Given the description of an element on the screen output the (x, y) to click on. 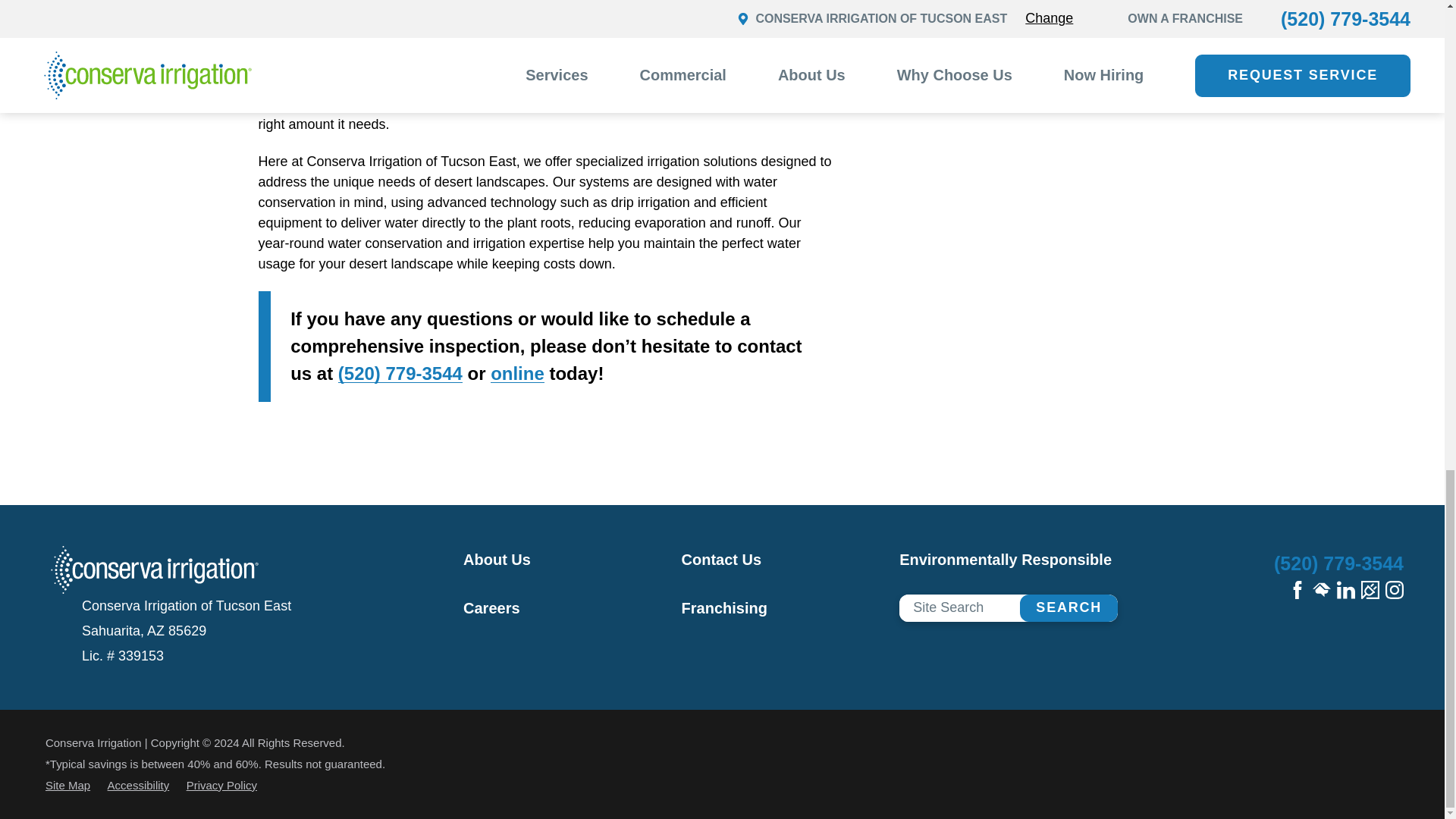
Instagram (1394, 589)
LinkedIn (1345, 589)
HomeAdvisor (1321, 589)
Facebook (1297, 589)
CareerPlug (1369, 589)
